Given the description of an element on the screen output the (x, y) to click on. 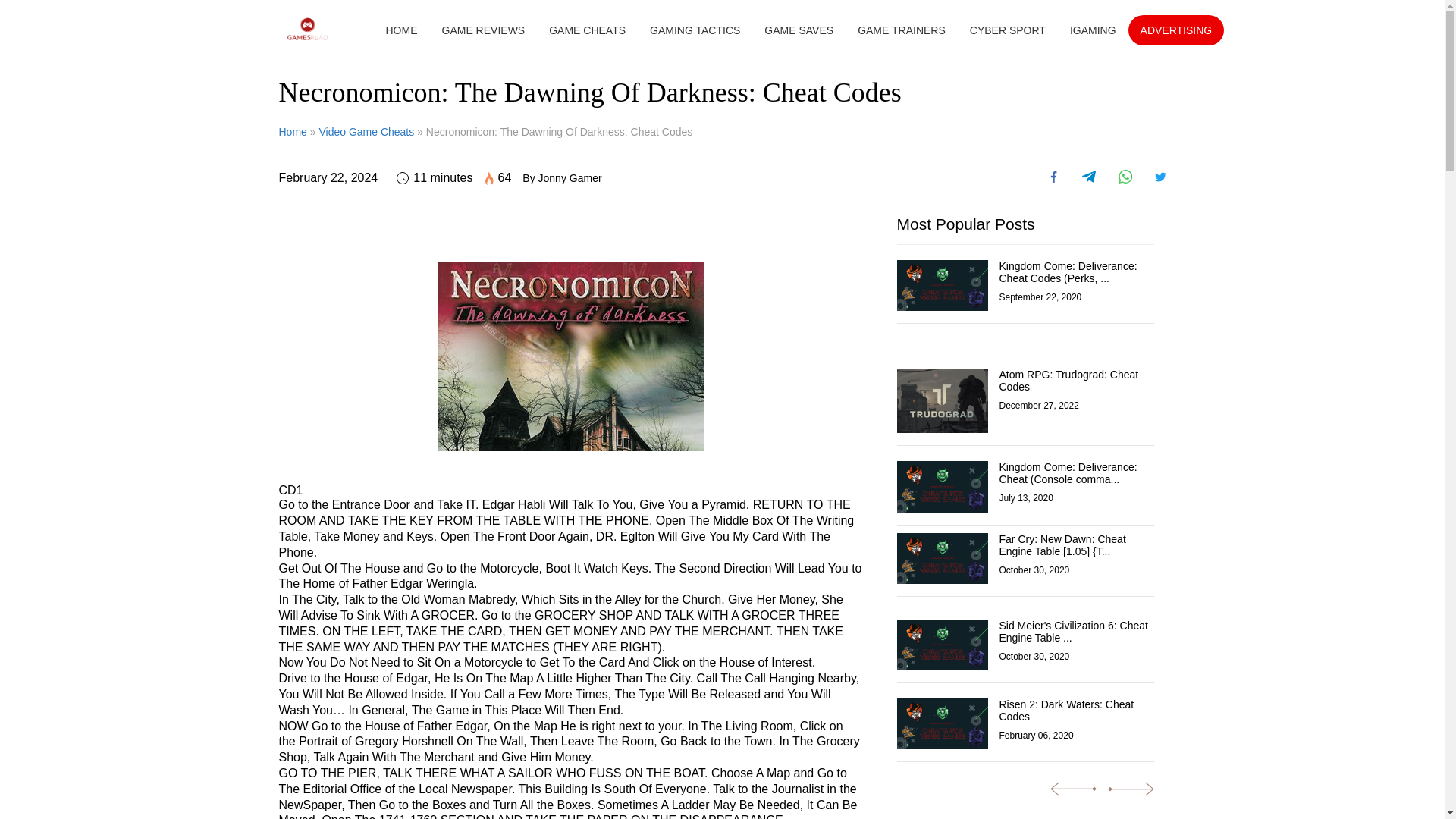
GAME TRAINERS (900, 30)
IGAMING (1093, 30)
Atom RPG: Trudograd: Cheat Codes (1076, 380)
Diablo 2: Lord of Destruction: Cheat Engine Tab... (1343, 552)
ADVERTISING (1176, 30)
Cheat Engine (1206, 303)
CYBER SPORT (1007, 30)
Video Game Cheats (365, 132)
GAME SAVES (798, 30)
Risen 2: Dark Waters: Cheat Codes (941, 723)
HOME (400, 30)
Home (293, 132)
Sid Meier's Civilization 6: Cheat Engine Table ... (1076, 631)
Atom RPG: Trudograd: Cheat Codes (941, 401)
GAME CHEATS (587, 30)
